Given the description of an element on the screen output the (x, y) to click on. 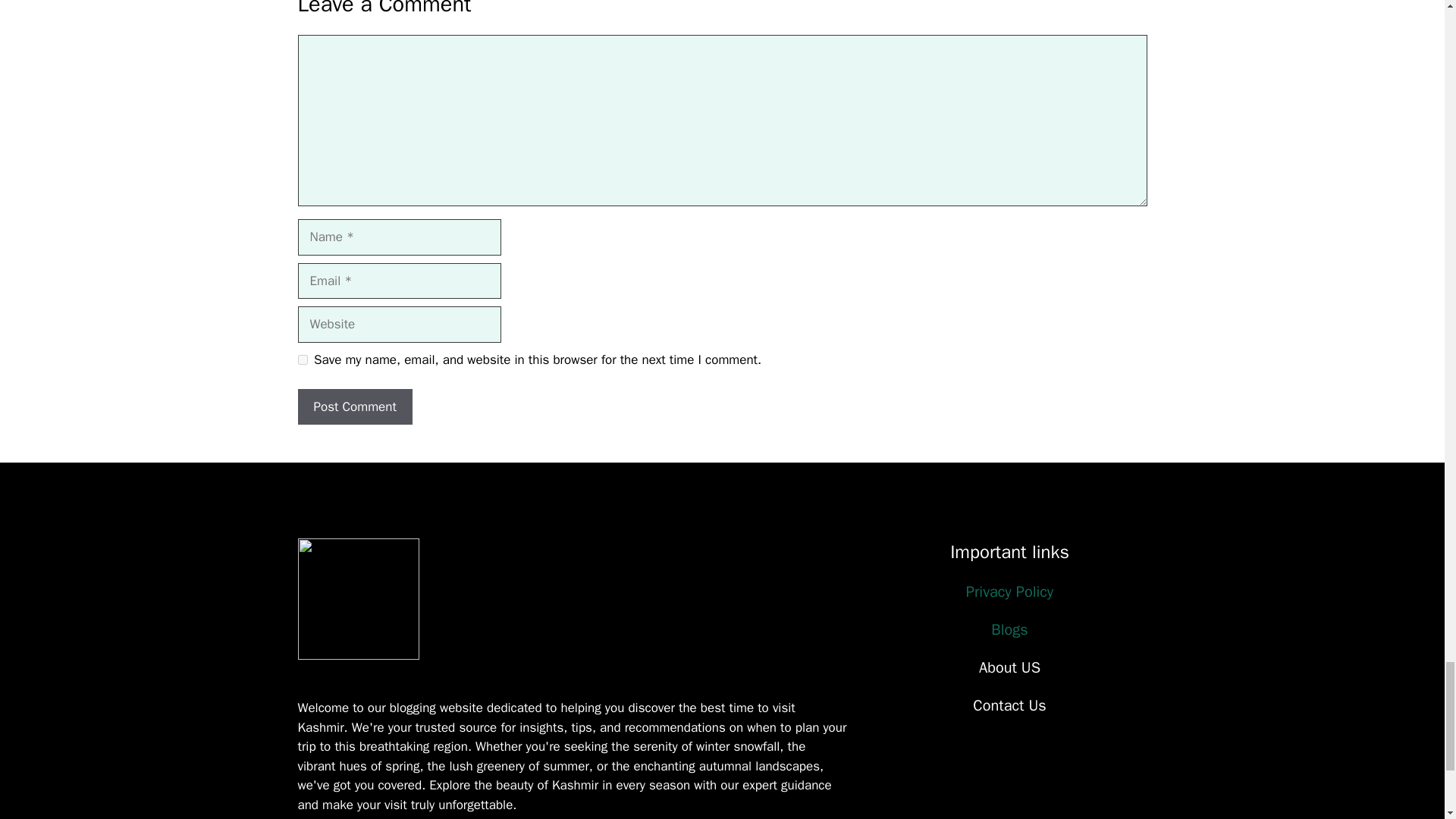
Post Comment (354, 407)
Post Comment (354, 407)
yes (302, 359)
Contact Us (1008, 705)
Blogs (1009, 629)
Privacy Policy (1009, 591)
About US (1009, 667)
